Given the description of an element on the screen output the (x, y) to click on. 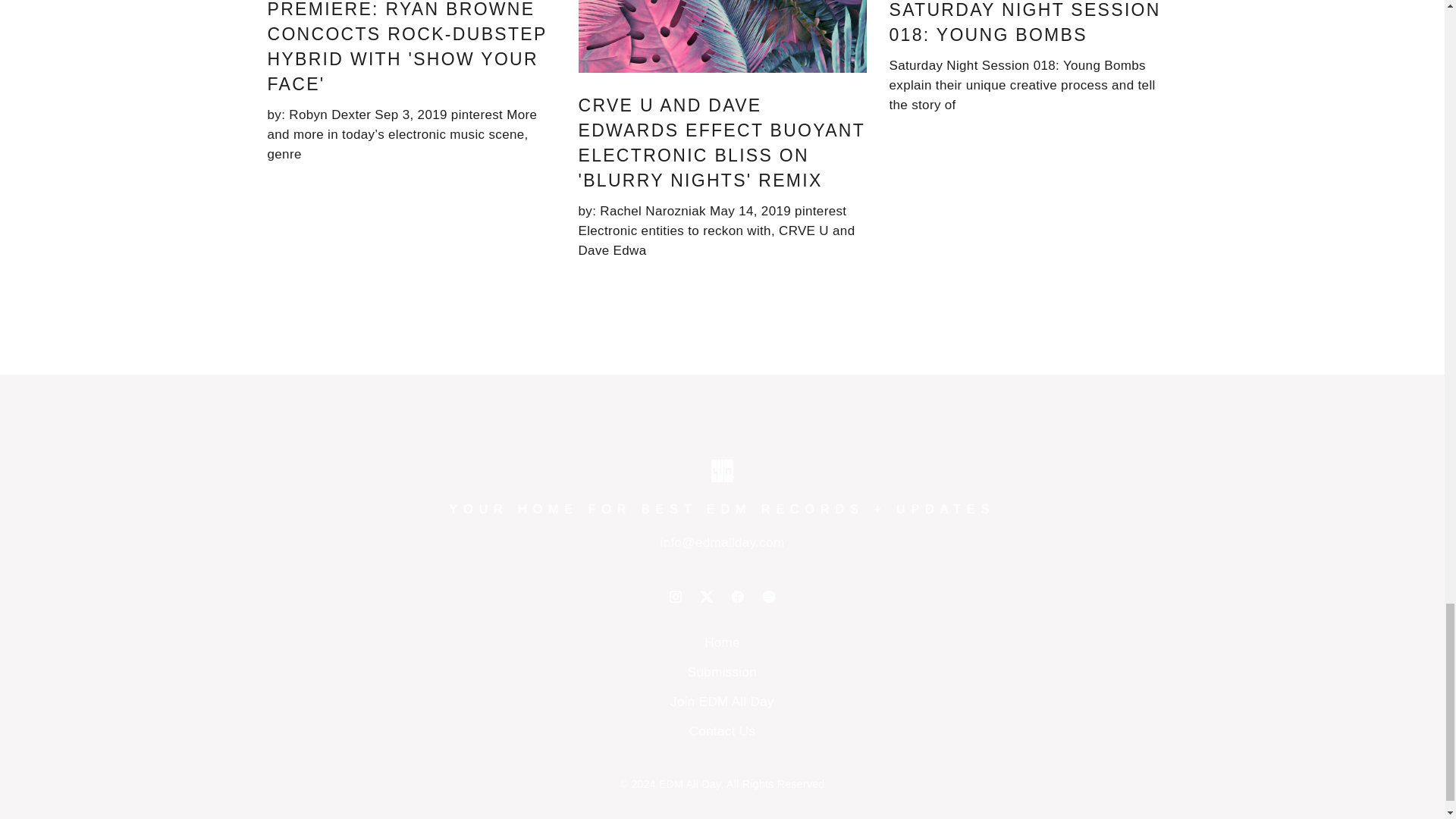
Submission (722, 672)
SATURDAY NIGHT SESSION 018: YOUNG BOMBS (1024, 22)
Home (721, 642)
